Given the description of an element on the screen output the (x, y) to click on. 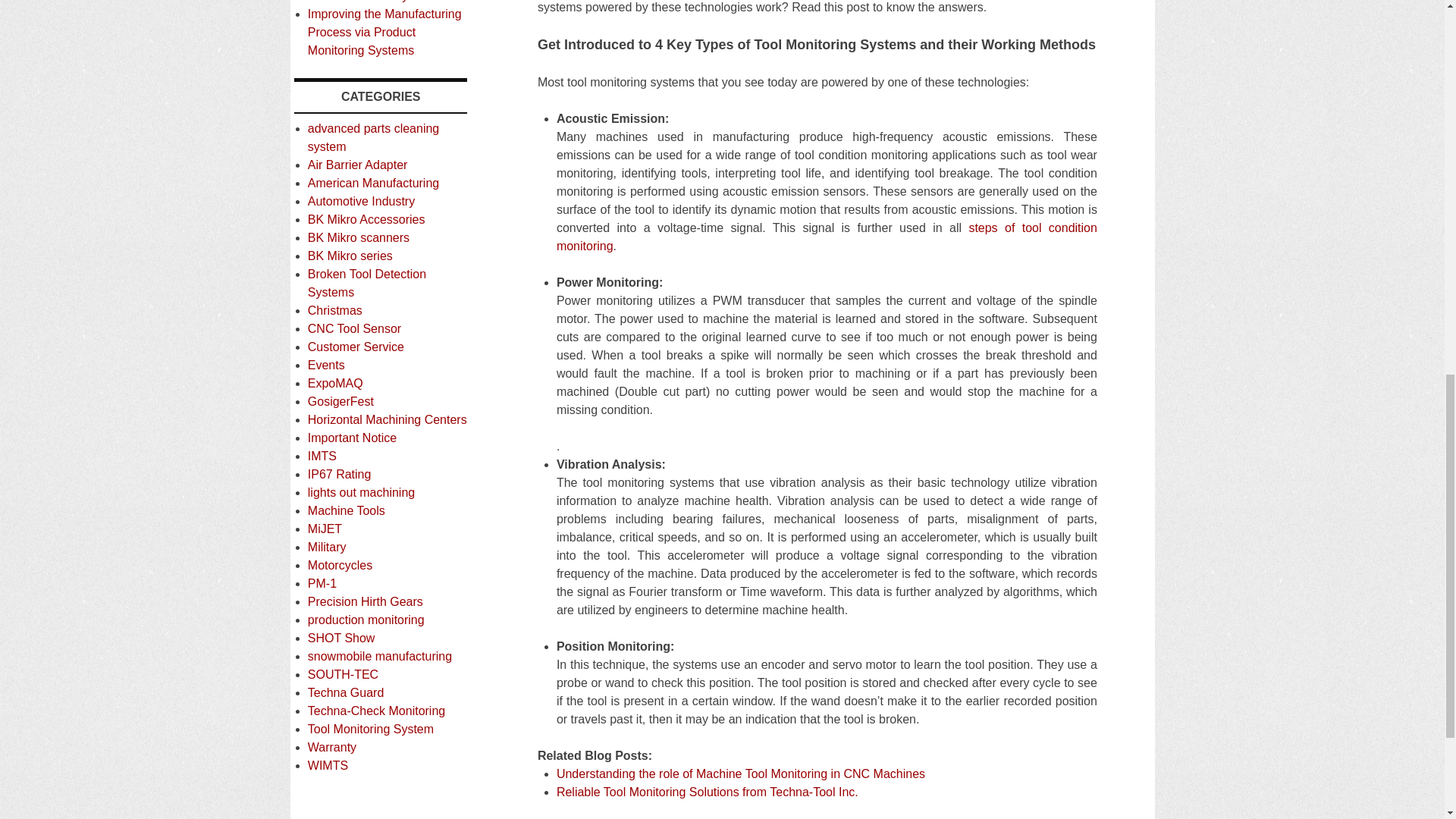
advanced parts cleaning system (373, 137)
BK Mikro Accessories (366, 219)
Christmas (334, 309)
Automotive Industry (360, 201)
Reliable Tool Monitoring Solutions from Techna-Tool Inc. (707, 791)
Broken Tool Detection Systems (366, 282)
Events (326, 364)
GosigerFest (340, 400)
American Manufacturing (373, 182)
ExpoMAQ (334, 382)
Air Barrier Adapter (357, 164)
BK Mikro series (350, 255)
Horizontal Machining Centers (387, 419)
